Given the description of an element on the screen output the (x, y) to click on. 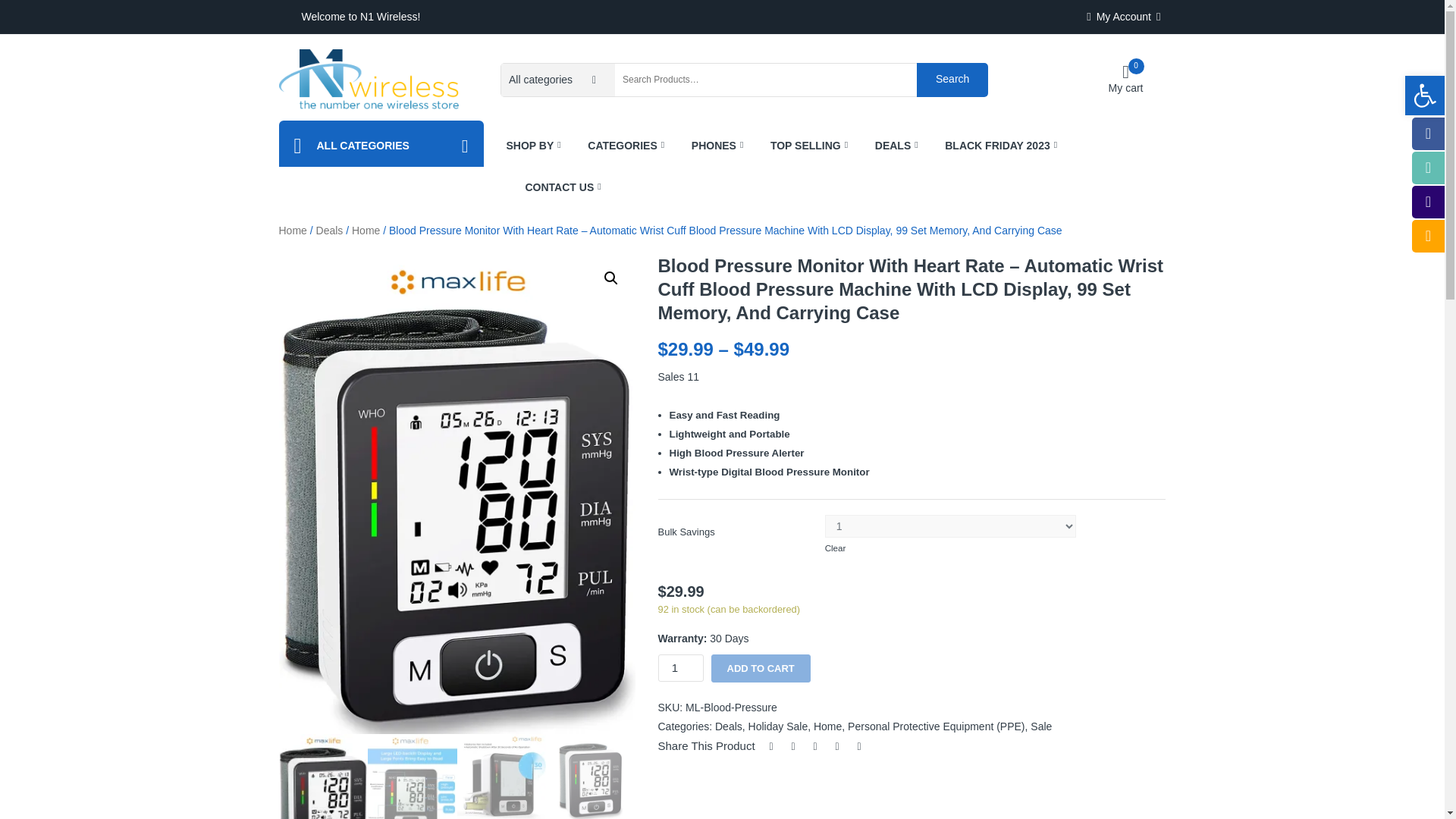
Search for: (765, 79)
1 (680, 667)
Search (1125, 78)
SHOP BY (952, 79)
N1 Wireless (537, 146)
Accessibility Tools (368, 78)
